Given the description of an element on the screen output the (x, y) to click on. 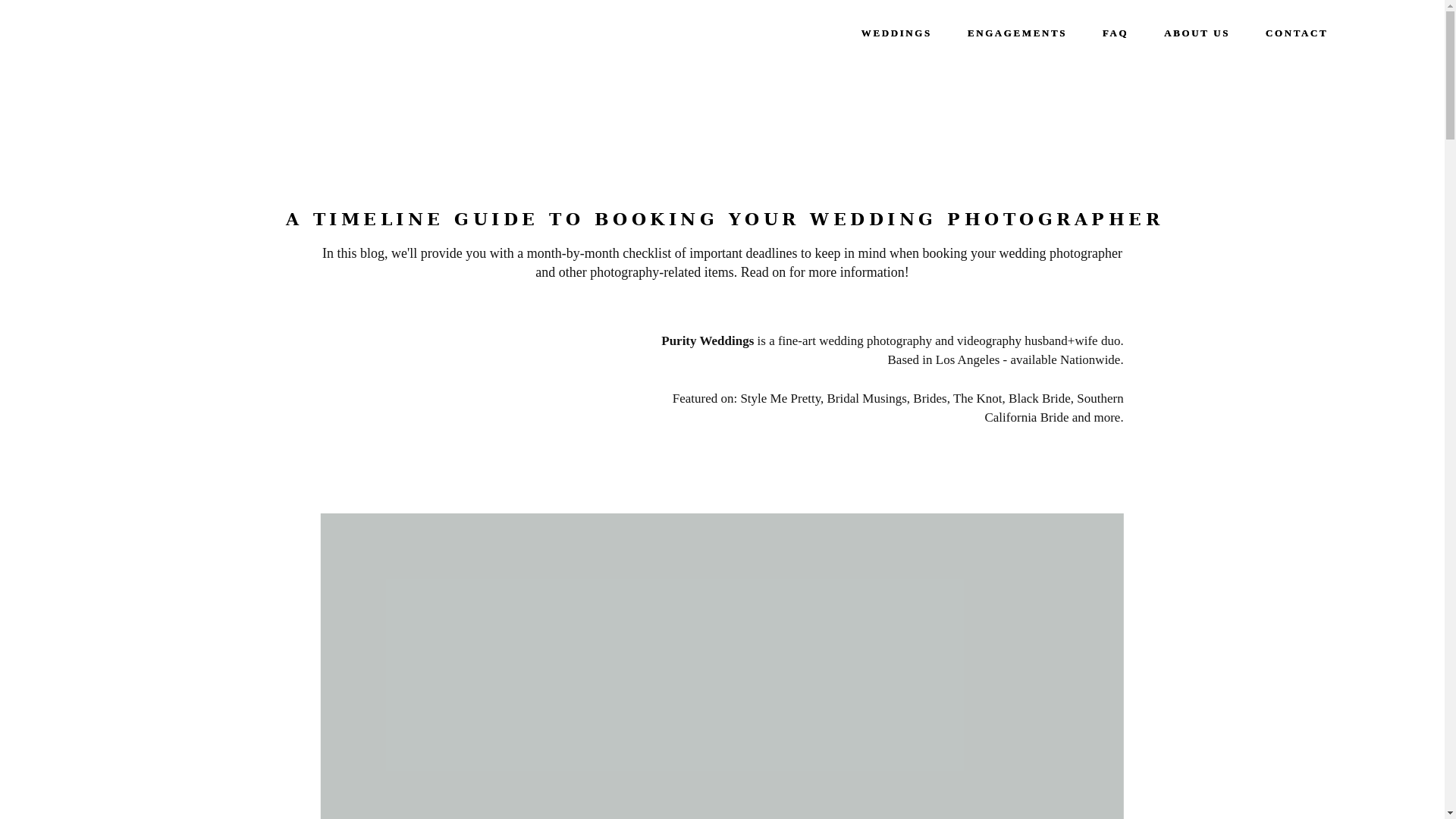
ENGAGEMENTS (1017, 33)
WEDDINGS (896, 33)
FAQ (1115, 33)
ABOUT US (1196, 33)
CONTACT (1296, 33)
